Given the description of an element on the screen output the (x, y) to click on. 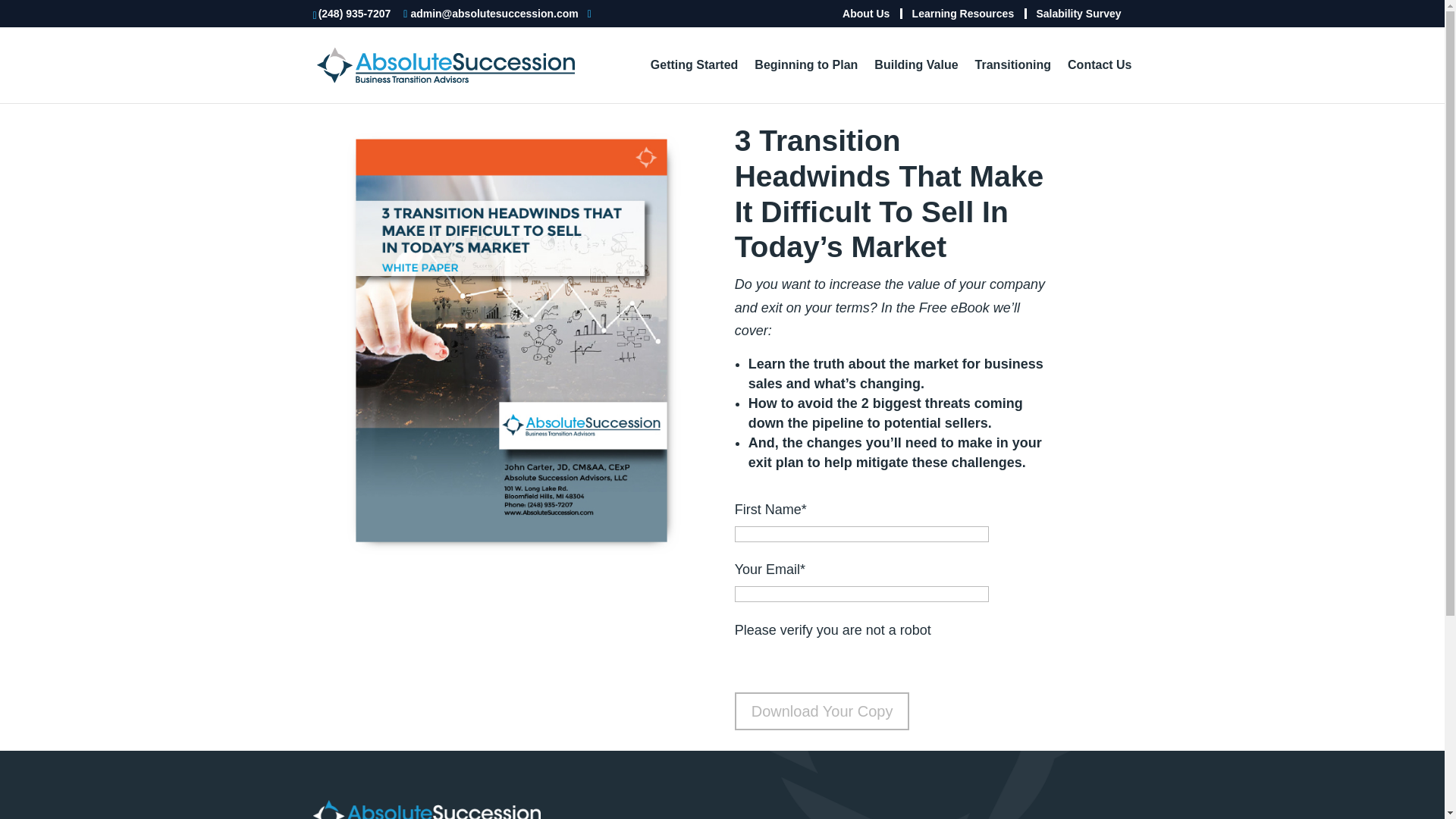
Transitioning (1013, 81)
Beginning to Plan (805, 81)
Salability Survey (1078, 12)
Building Value (916, 81)
Download Your Copy (822, 711)
Learning Resources (963, 12)
About Us (866, 12)
Getting Started (694, 81)
Contact Us (1099, 81)
Download Your Copy (822, 711)
